Given the description of an element on the screen output the (x, y) to click on. 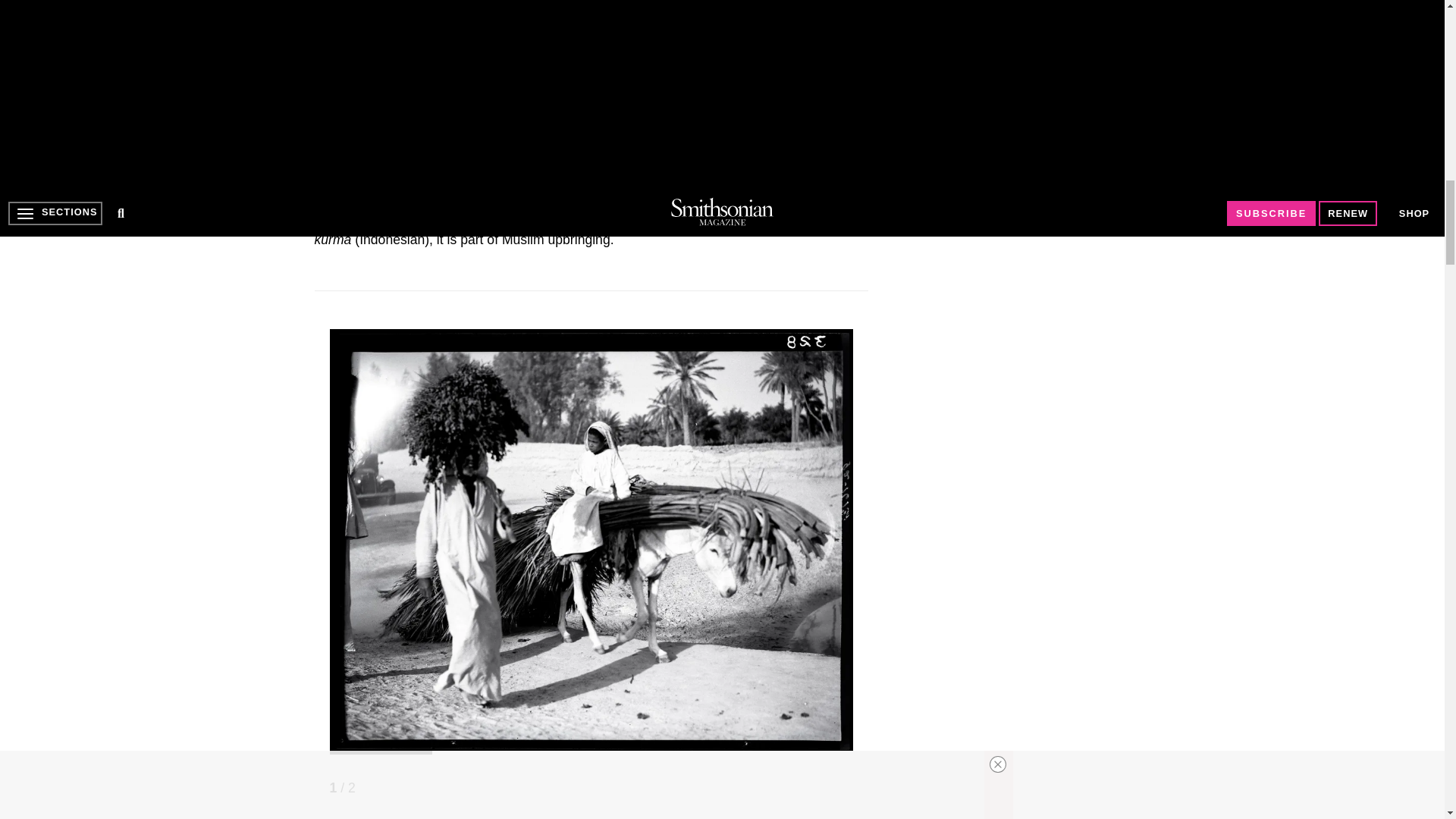
Next (842, 802)
Previous (823, 802)
